Given the description of an element on the screen output the (x, y) to click on. 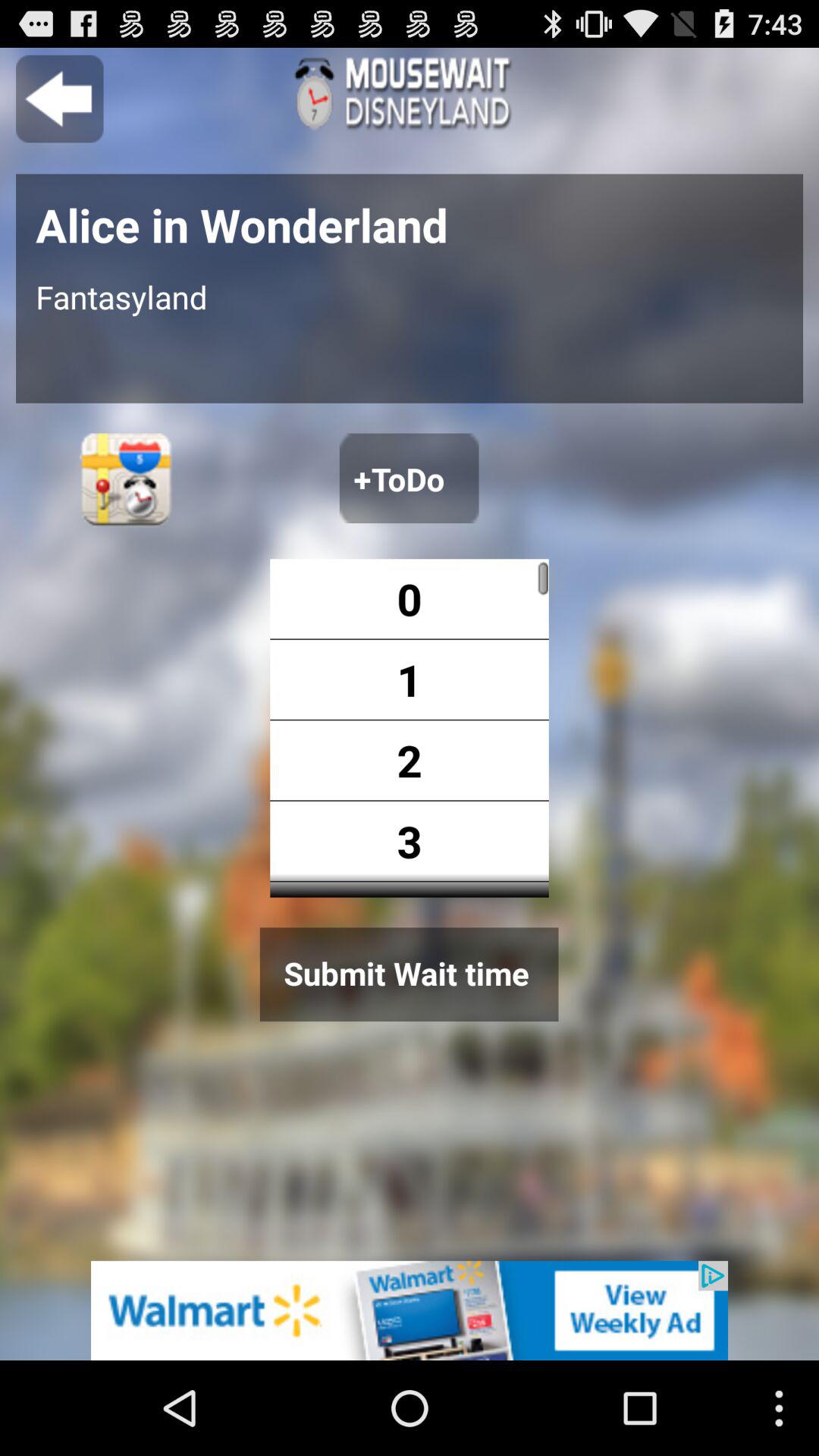
select the range (498, 728)
